Given the description of an element on the screen output the (x, y) to click on. 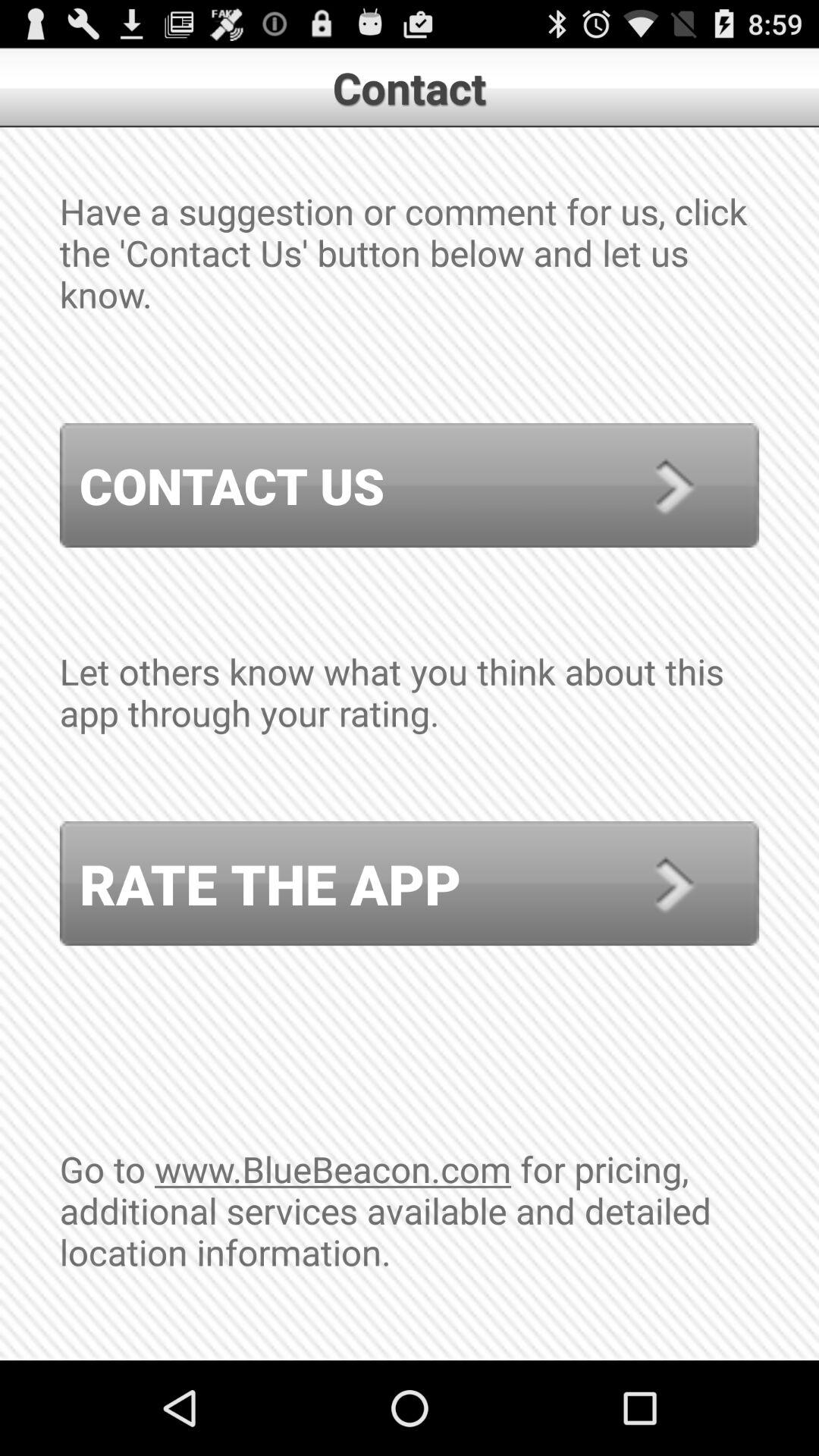
launch icon below the let others know (409, 883)
